Given the description of an element on the screen output the (x, y) to click on. 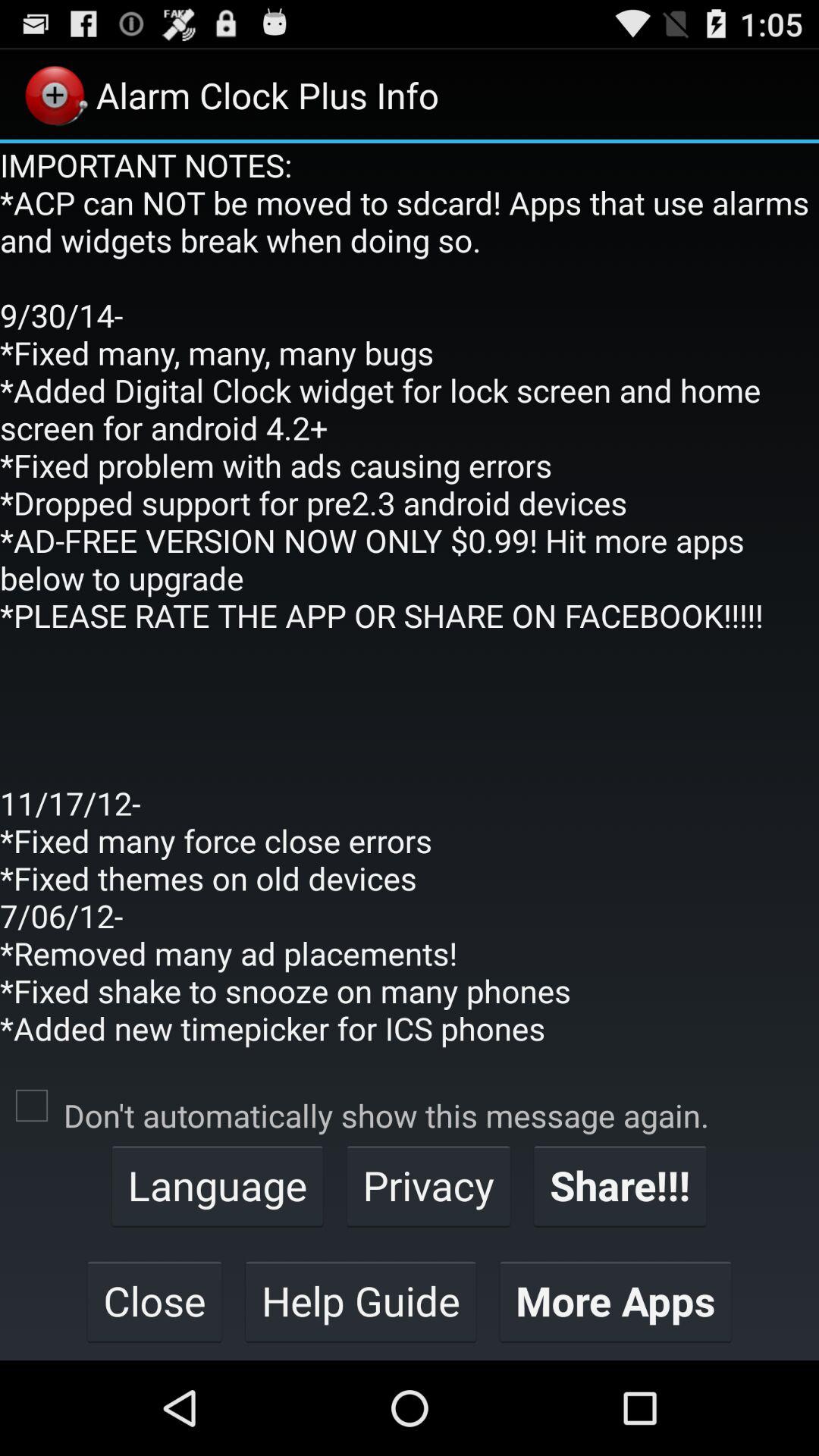
flip to the help guide button (360, 1300)
